Given the description of an element on the screen output the (x, y) to click on. 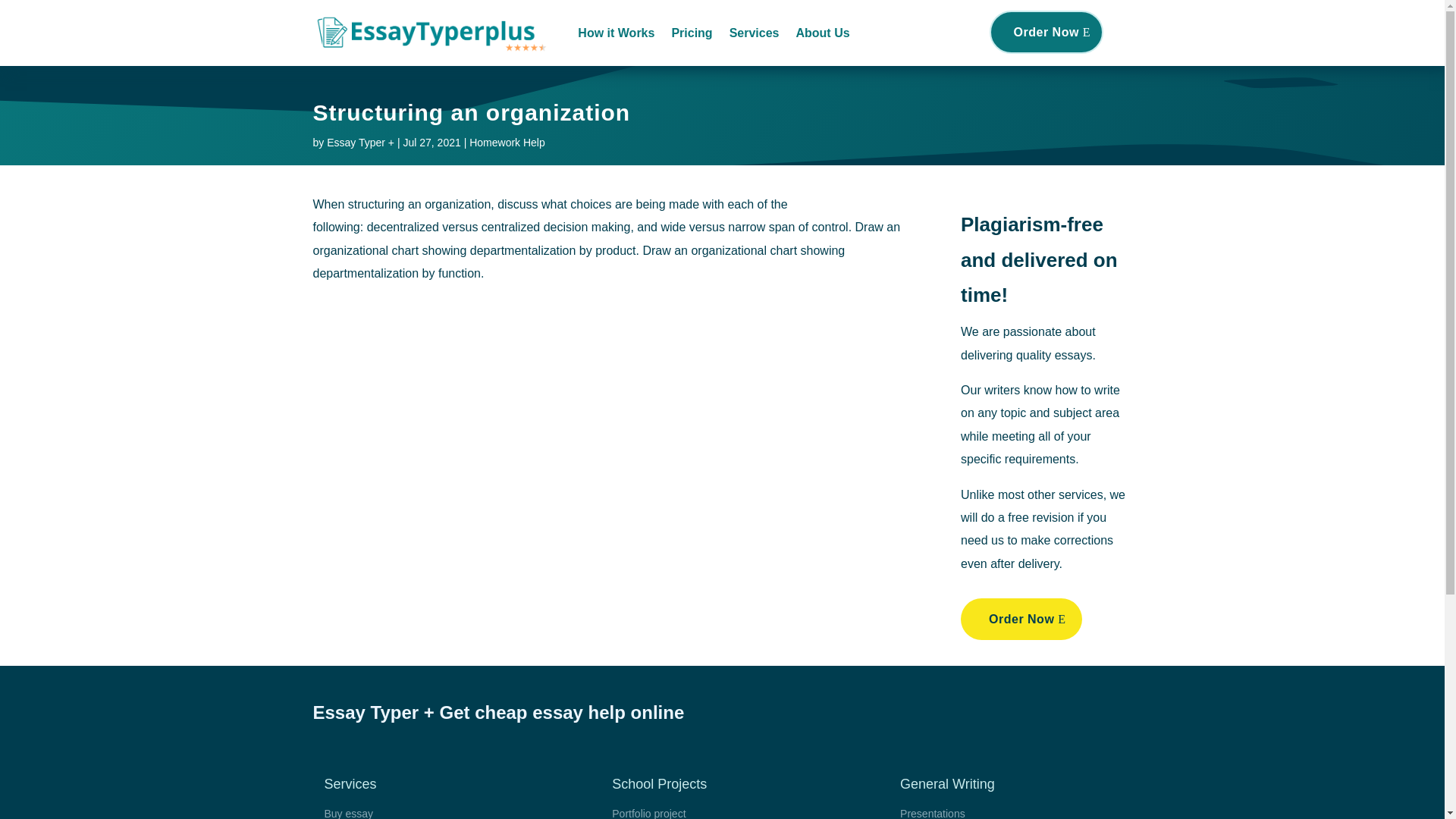
Order Now (1020, 618)
Order Now (1046, 32)
About Us (821, 33)
How it Works (615, 33)
Homework Help (506, 142)
